Given the description of an element on the screen output the (x, y) to click on. 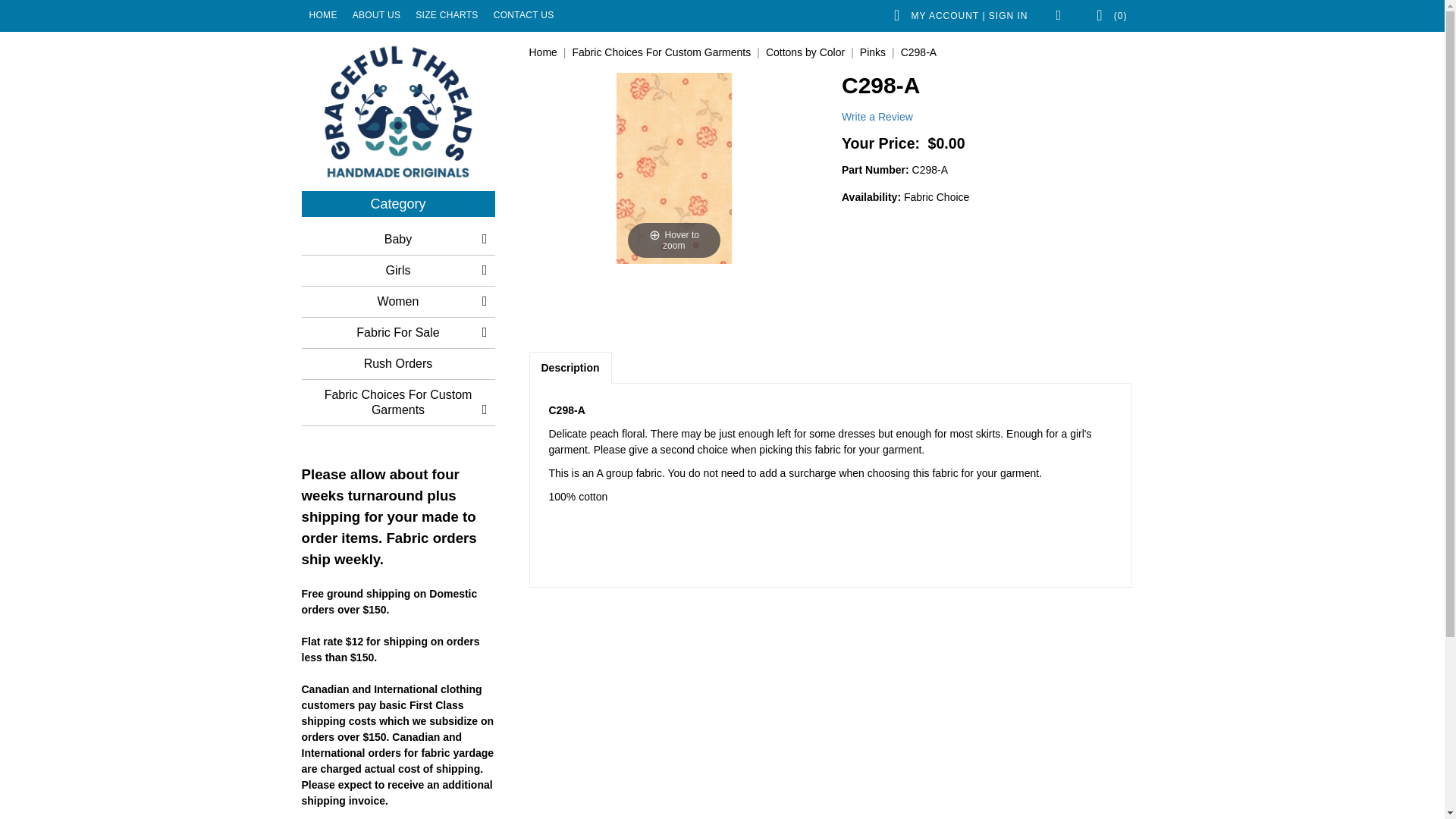
Baby (398, 239)
CONTACT US (524, 15)
Women (398, 301)
ABOUT US (377, 15)
HOME (323, 15)
Girls (398, 270)
Fabric For Sale (398, 332)
SIZE CHARTS (445, 15)
